Given the description of an element on the screen output the (x, y) to click on. 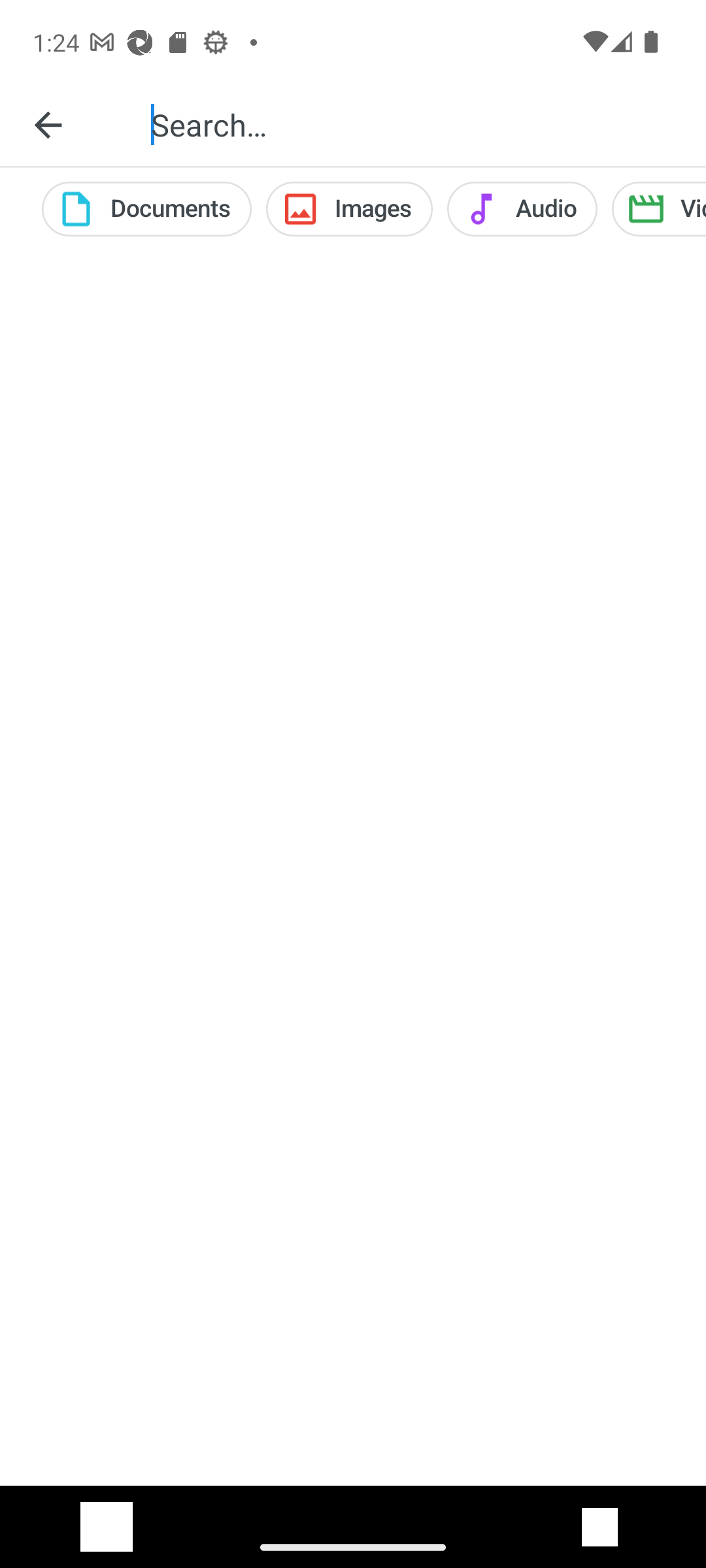
Back (48, 124)
Search… (414, 124)
Documents (146, 208)
Images (349, 208)
Audio (521, 208)
Videos (659, 208)
